Given the description of an element on the screen output the (x, y) to click on. 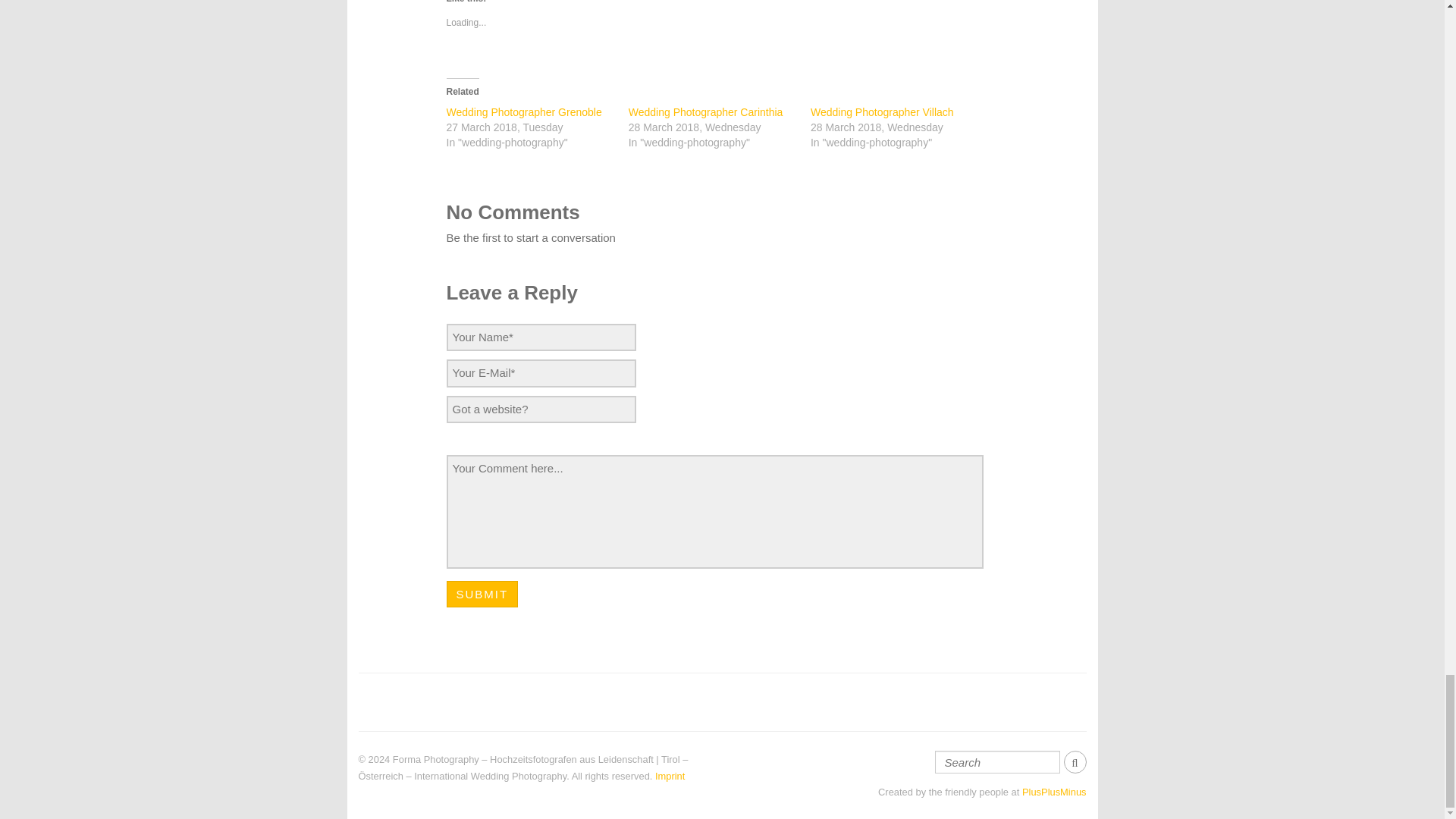
Submit (481, 593)
